Given the description of an element on the screen output the (x, y) to click on. 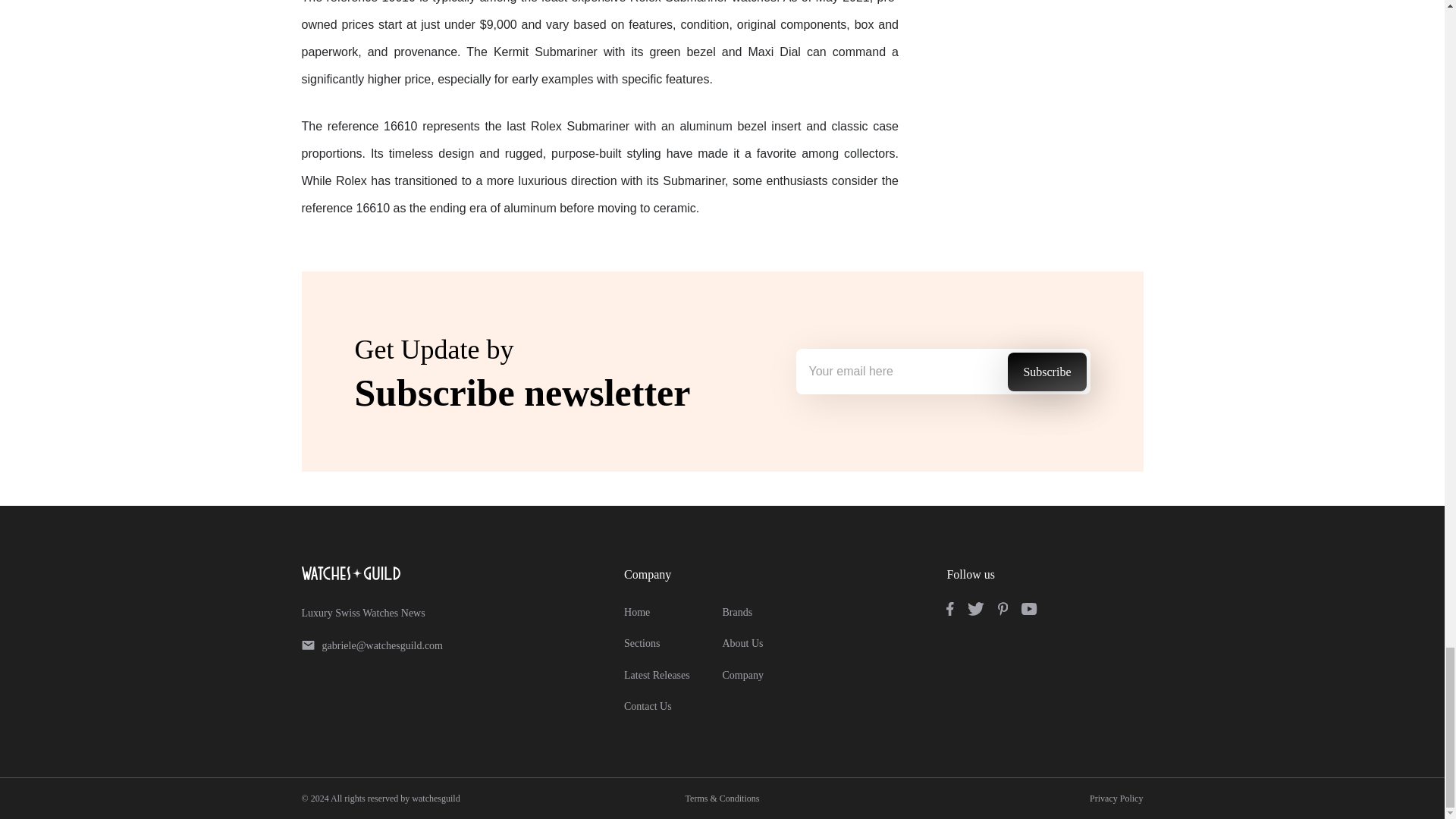
Latest Releases (657, 674)
Home (636, 612)
Brands (737, 612)
Contact Us (647, 706)
About Us (742, 643)
Subscribe (1046, 371)
Privacy Policy (1115, 798)
Company (742, 674)
Sections (641, 643)
